Given the description of an element on the screen output the (x, y) to click on. 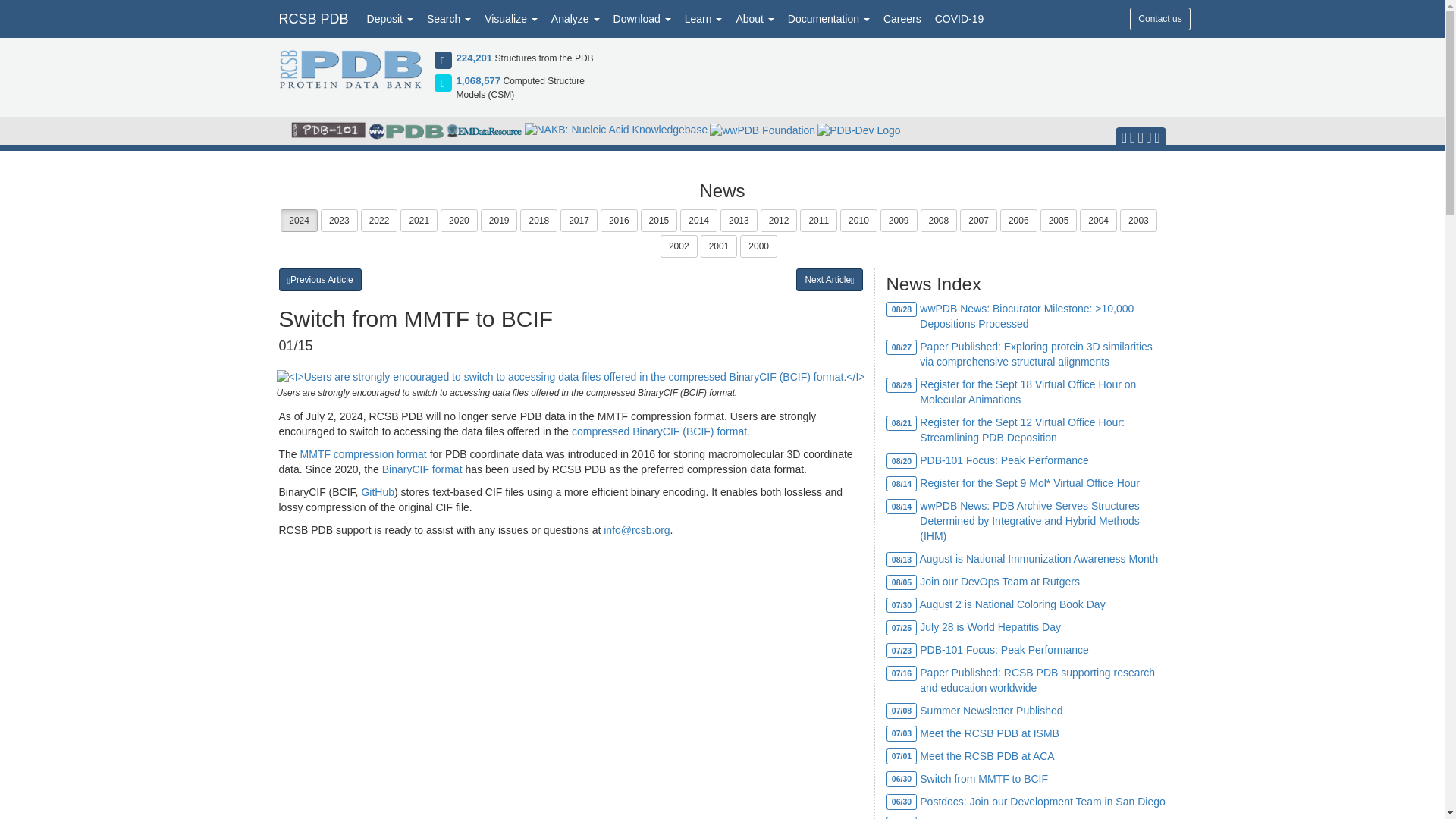
Search  (448, 18)
Visualize  (510, 18)
RCSB PDB (312, 18)
Deposit  (389, 18)
Analyze  (575, 18)
